Given the description of an element on the screen output the (x, y) to click on. 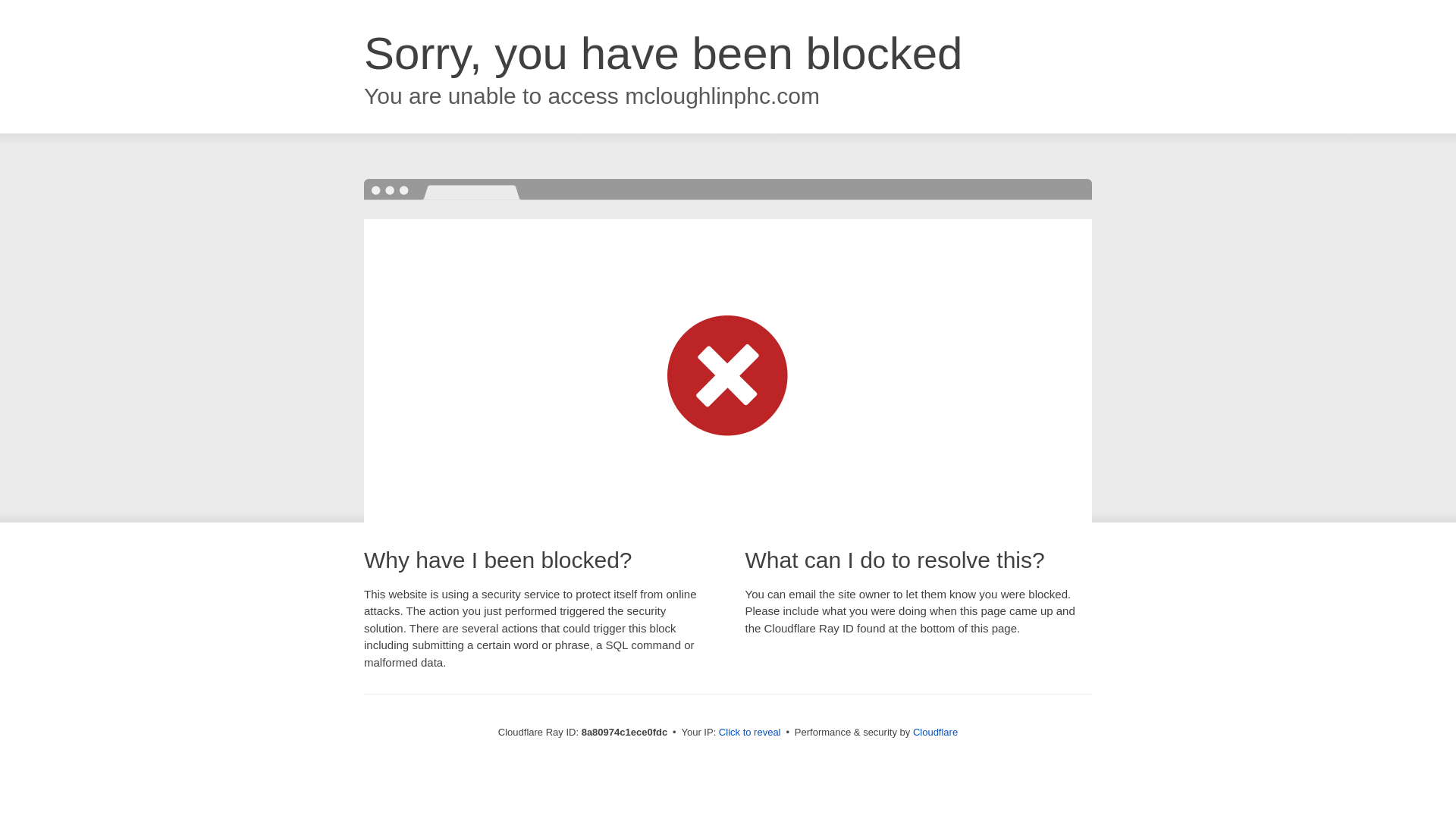
Cloudflare (935, 731)
Click to reveal (749, 732)
